Given the description of an element on the screen output the (x, y) to click on. 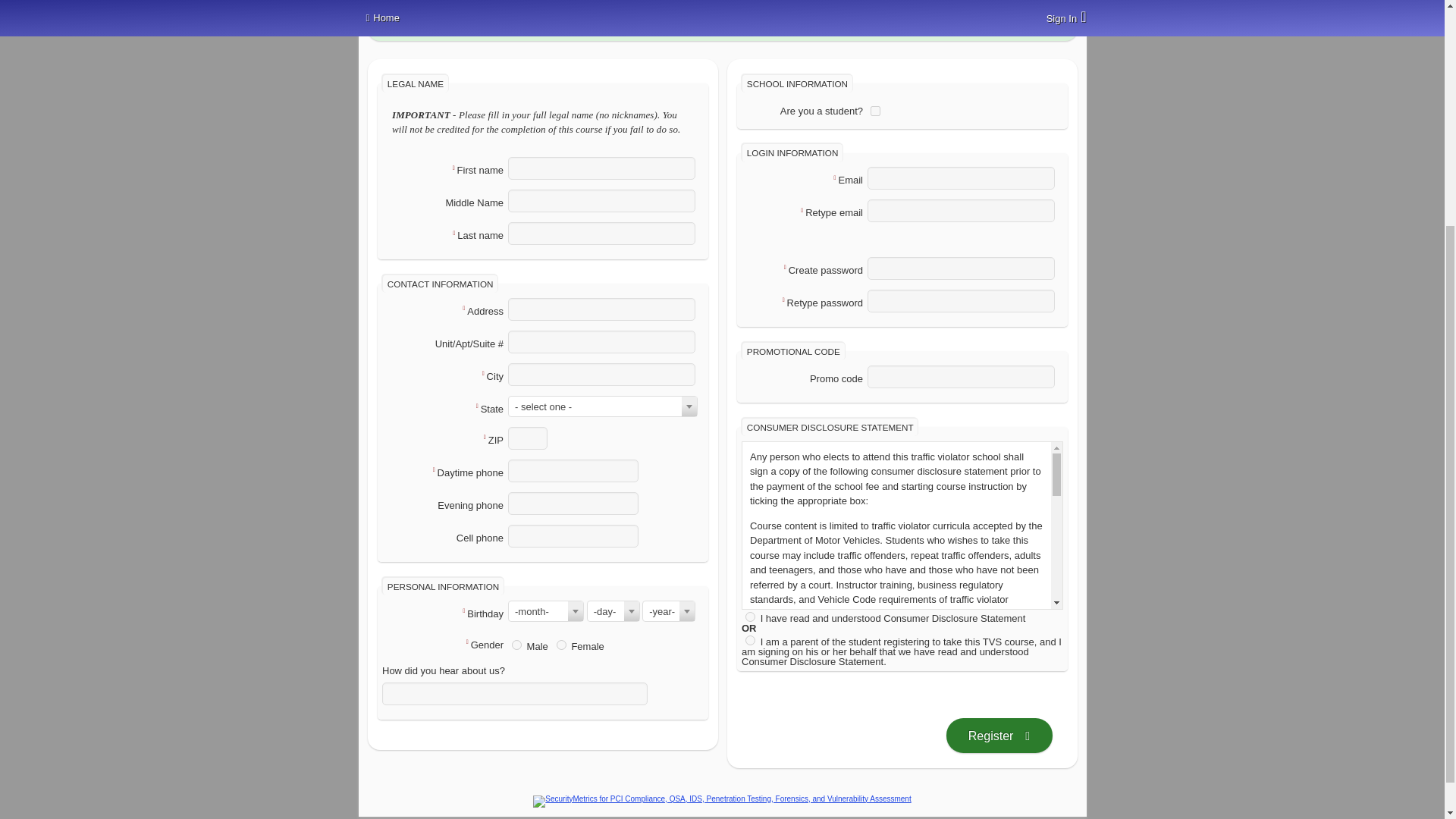
F (561, 644)
Please enter date of birth (612, 599)
Enter cell phone number or leave blank (573, 535)
Enter your middle name (601, 200)
Enter your last name (601, 232)
Enter a valid ZIP code (527, 437)
Enter phone number or leave blank (573, 503)
Register (999, 735)
1 (875, 111)
Enter phone number (573, 470)
Select a state (602, 405)
Enter your first name (601, 168)
M (516, 644)
on (750, 616)
Please enter date of birth (613, 610)
